Given the description of an element on the screen output the (x, y) to click on. 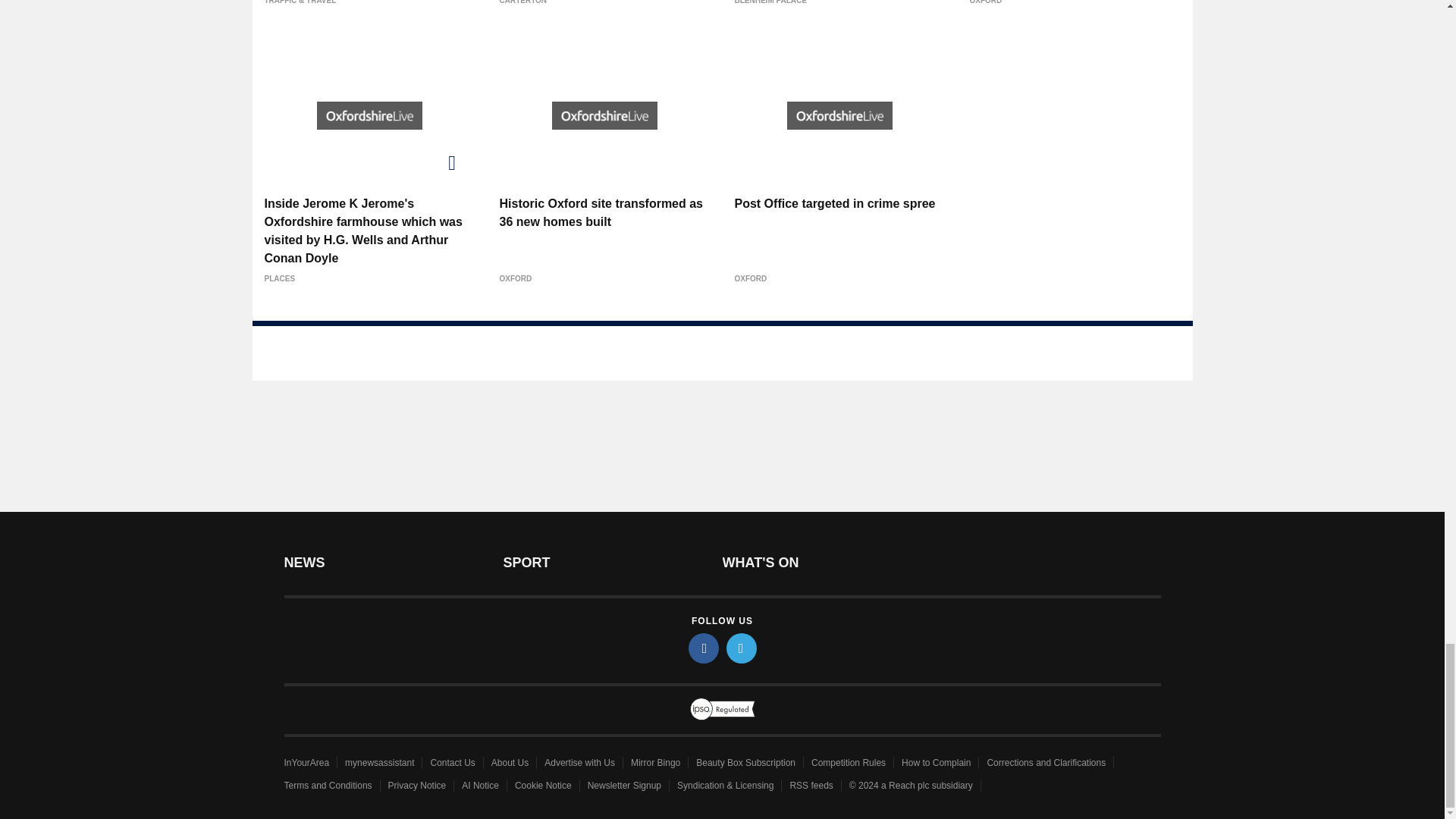
twitter (741, 648)
facebook (703, 648)
